Given the description of an element on the screen output the (x, y) to click on. 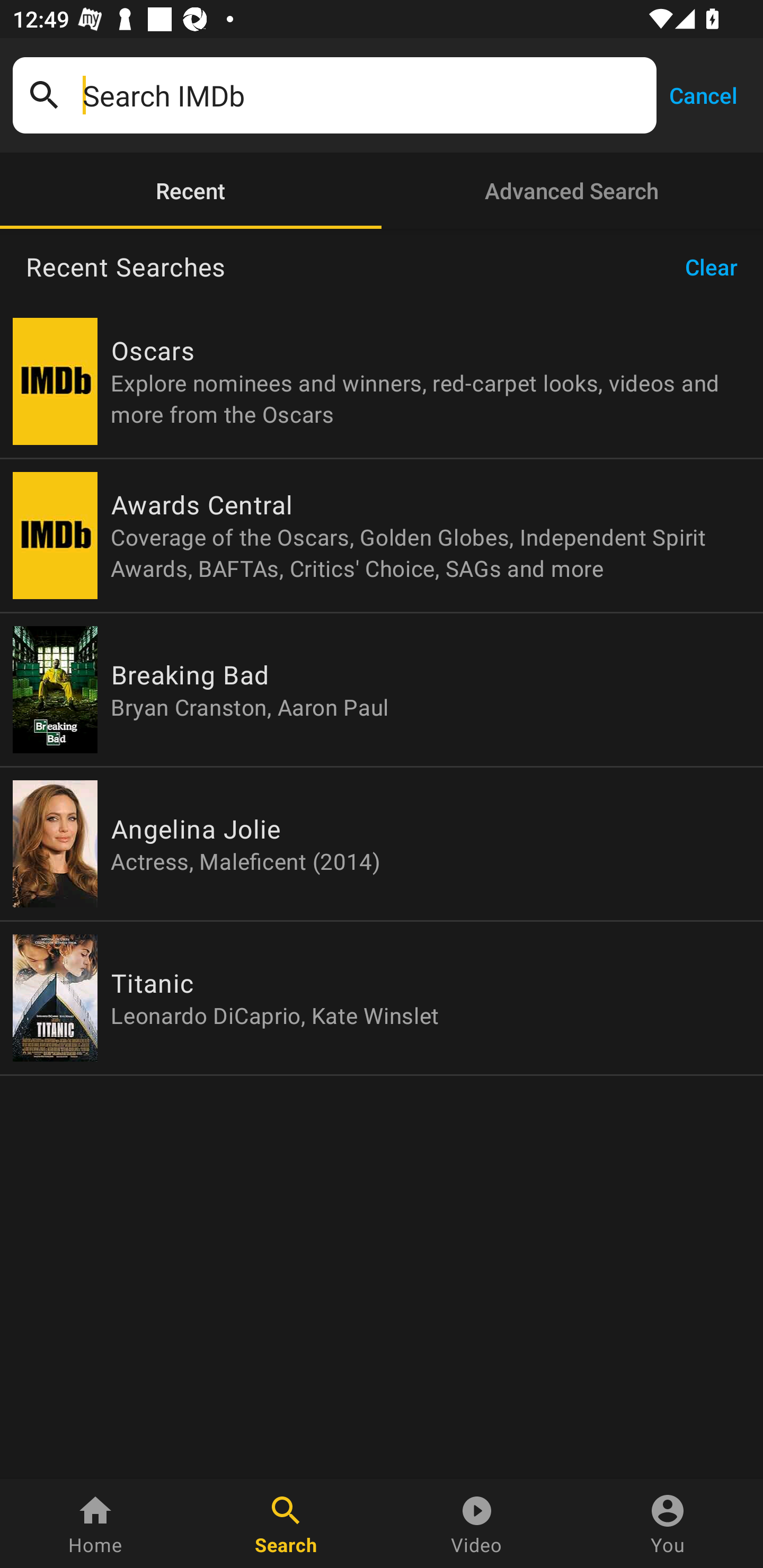
Cancel (703, 94)
Search IMDb (363, 95)
Advanced Search (572, 190)
Clear (717, 266)
Breaking Bad Bryan Cranston, Aaron Paul (381, 689)
Angelina Jolie Actress, Maleficent (2014) (381, 844)
Titanic Leonardo DiCaprio, Kate Winslet (381, 997)
Home (95, 1523)
Video (476, 1523)
You (667, 1523)
